Given the description of an element on the screen output the (x, y) to click on. 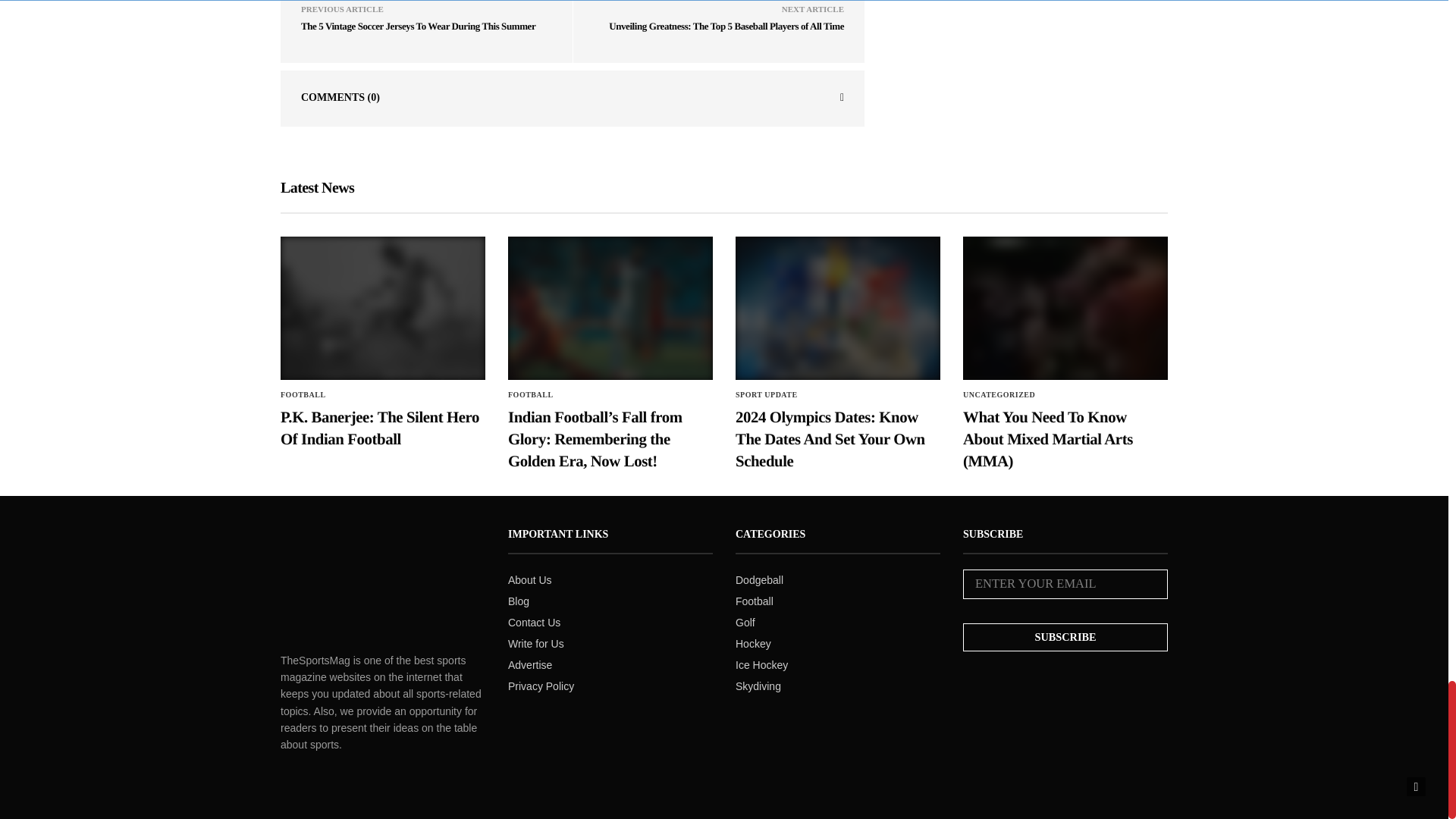
The 5 Vintage Soccer Jerseys To Wear During This Summer (418, 25)
Unveiling Greatness: The Top 5 Baseball Players of All Time (726, 25)
Subscribe (1064, 637)
